Given the description of an element on the screen output the (x, y) to click on. 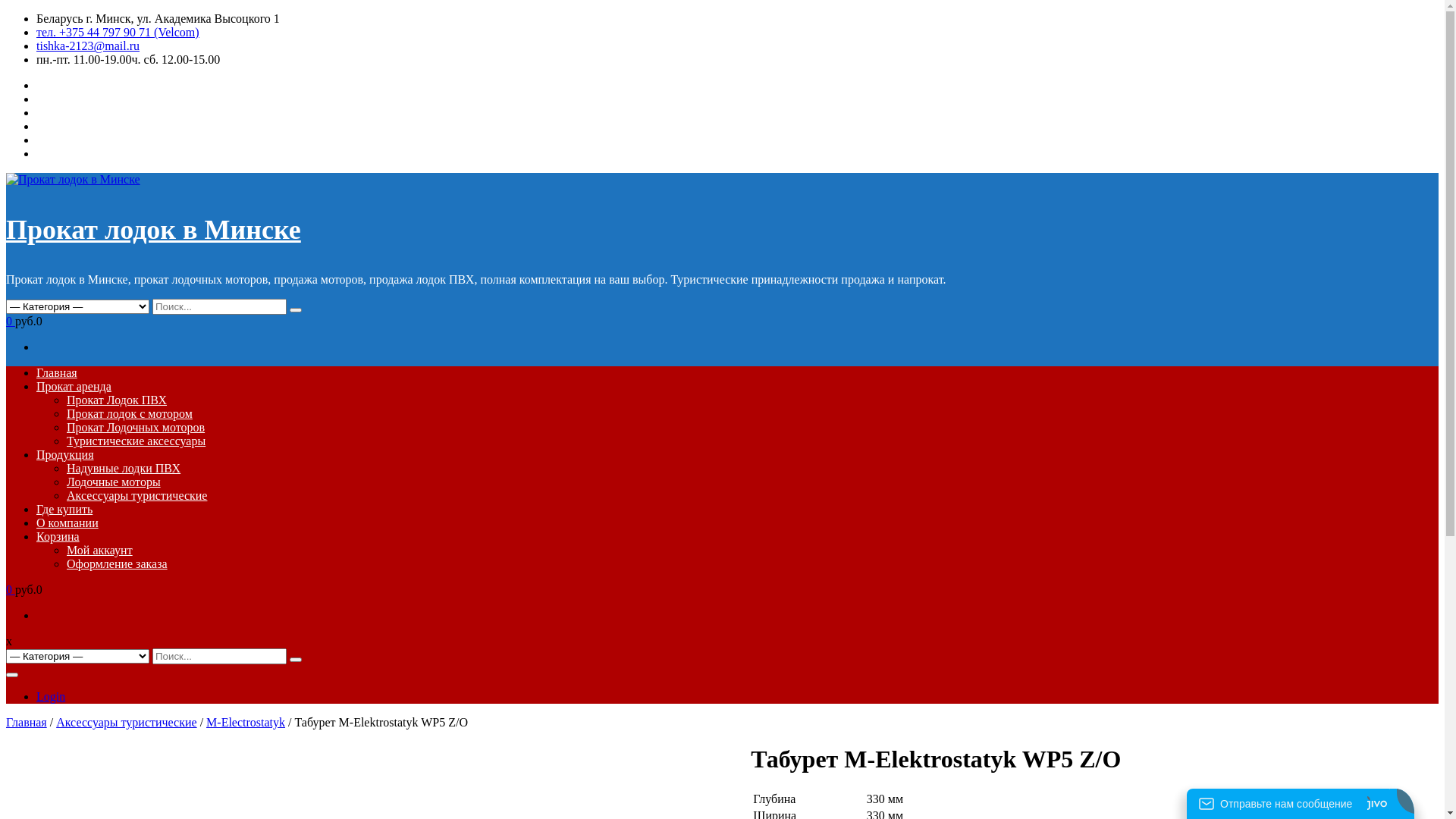
Login Element type: text (50, 696)
tishka-2123@mail.ru Element type: text (87, 45)
0 Element type: text (10, 320)
M-Electrostatyk Element type: text (245, 721)
0 Element type: text (10, 589)
